Given the description of an element on the screen output the (x, y) to click on. 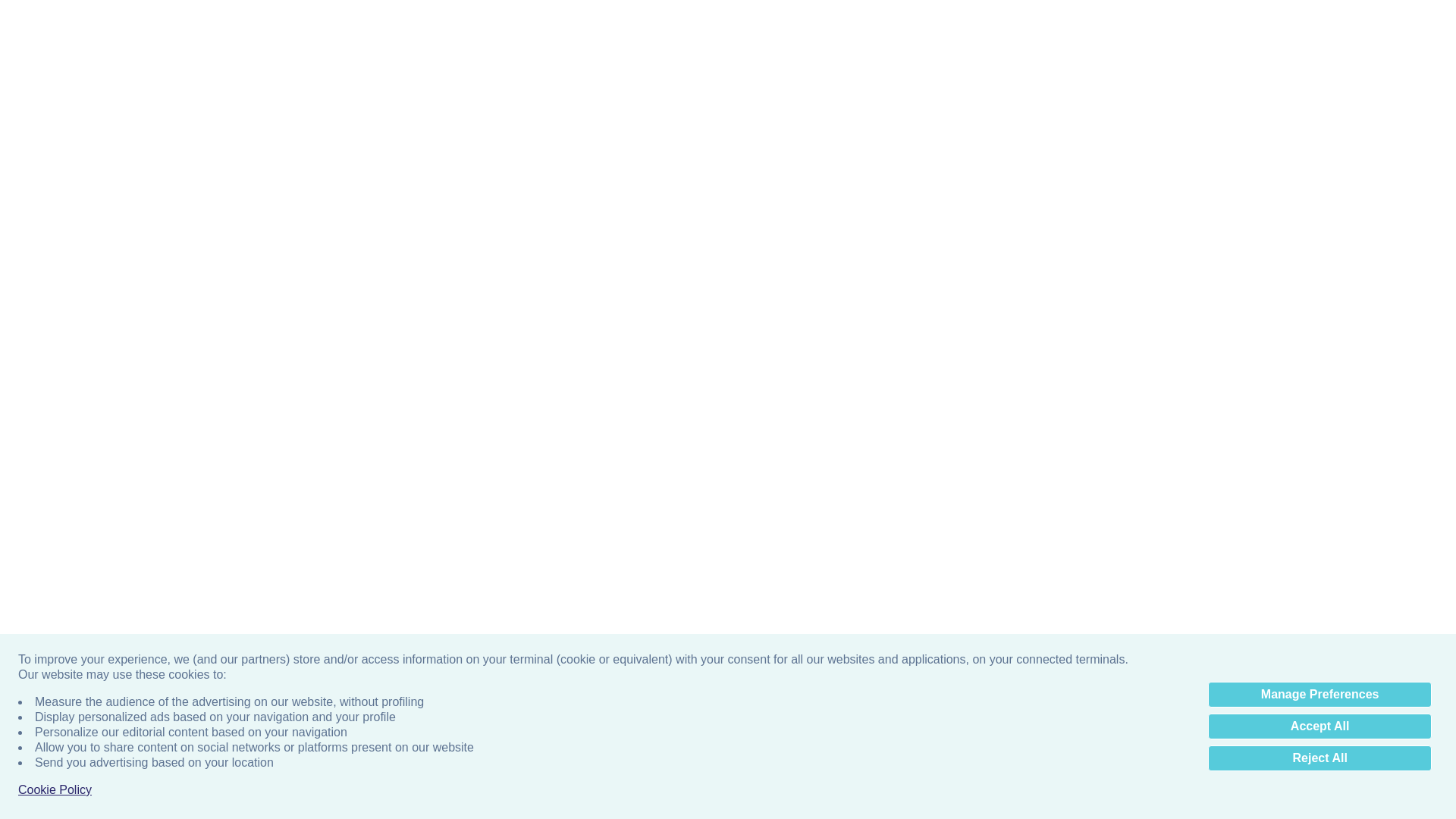
Accept All (1319, 343)
Cookie Policy (54, 406)
Manage Preferences (1319, 311)
Reject All (1319, 375)
